Given the description of an element on the screen output the (x, y) to click on. 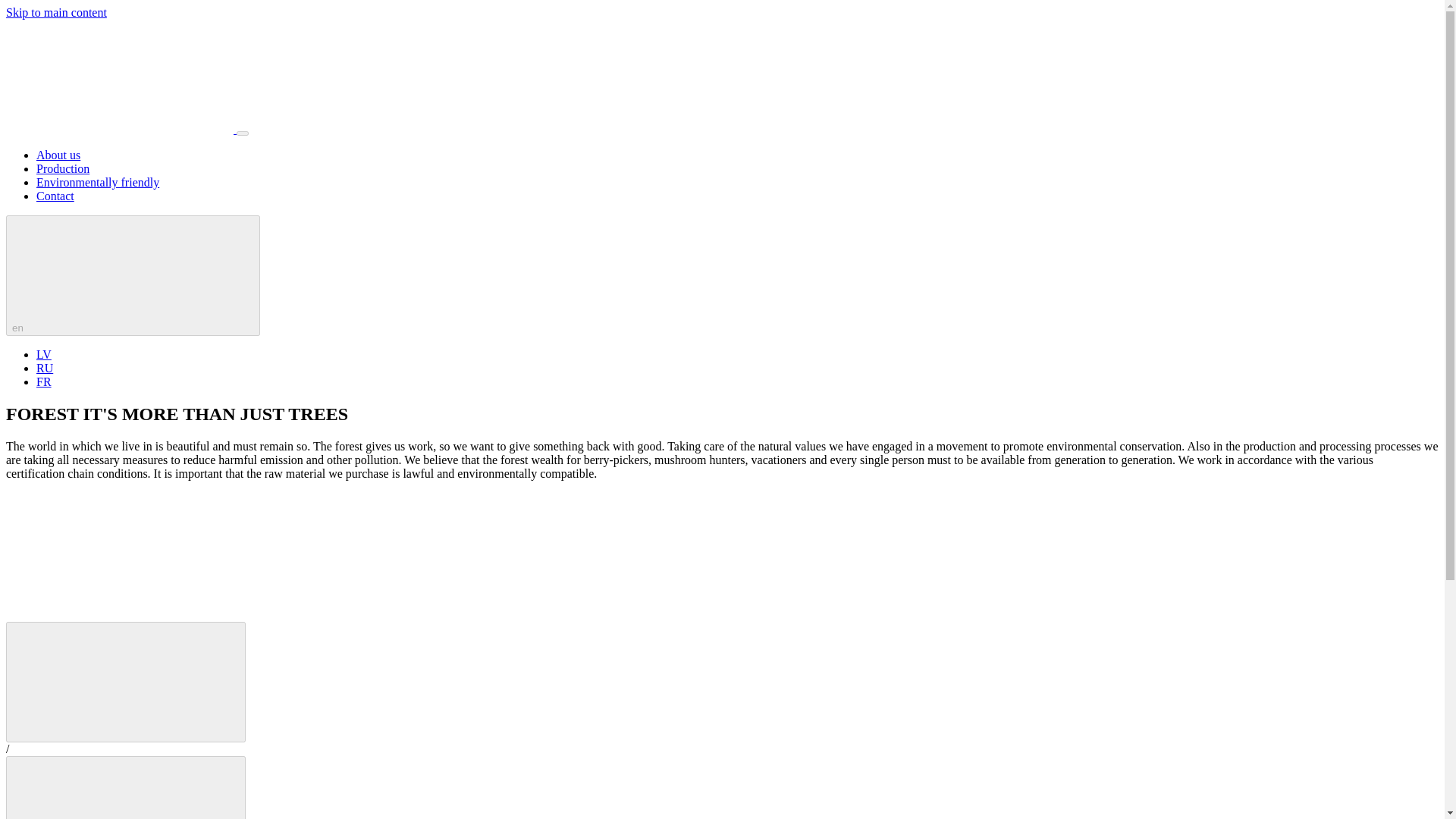
Environmentally friendly (97, 182)
Skip to main content (55, 11)
Contact (55, 195)
LV (43, 354)
en (132, 275)
Production (62, 168)
FR (43, 381)
RU (44, 367)
About us (58, 154)
